Given the description of an element on the screen output the (x, y) to click on. 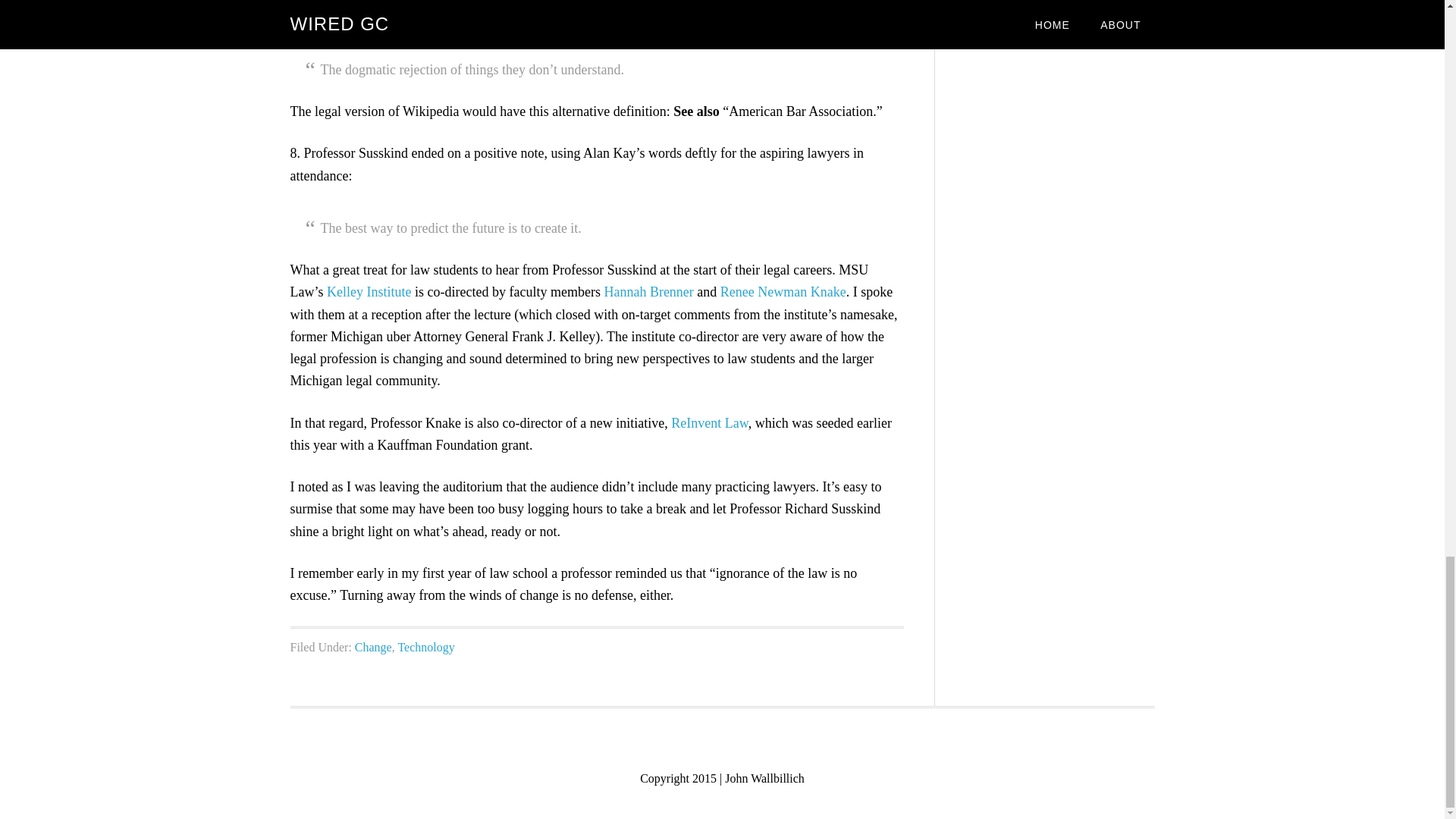
Change (373, 646)
Renee Newman Knake (782, 291)
Kelley Institute (368, 291)
Hannah Brenner (648, 291)
ReInvent Law (709, 422)
Technology (425, 646)
